Given the description of an element on the screen output the (x, y) to click on. 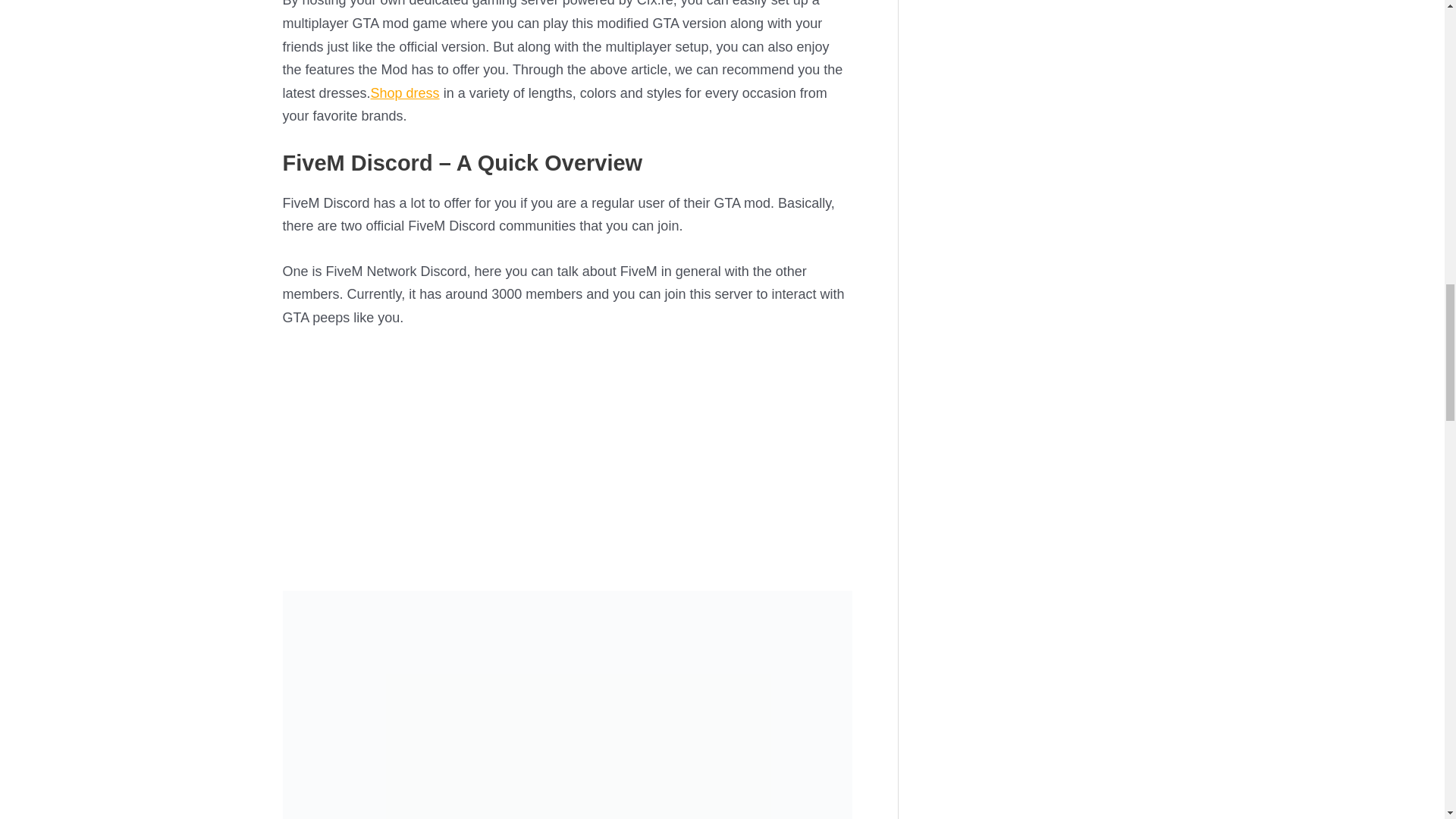
Advertisement (566, 457)
Shop dress (405, 92)
